Given the description of an element on the screen output the (x, y) to click on. 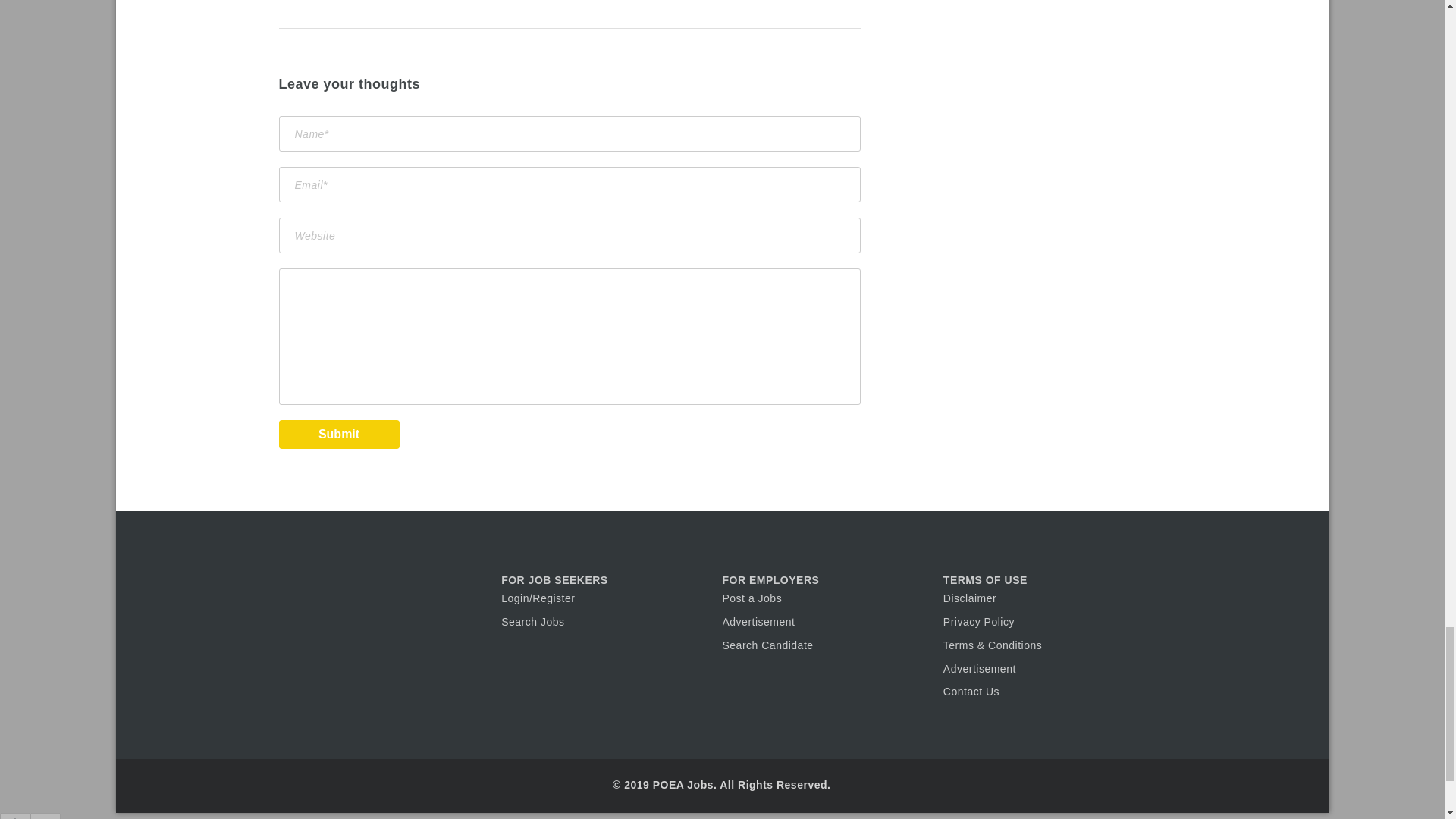
Submit (338, 434)
